Given the description of an element on the screen output the (x, y) to click on. 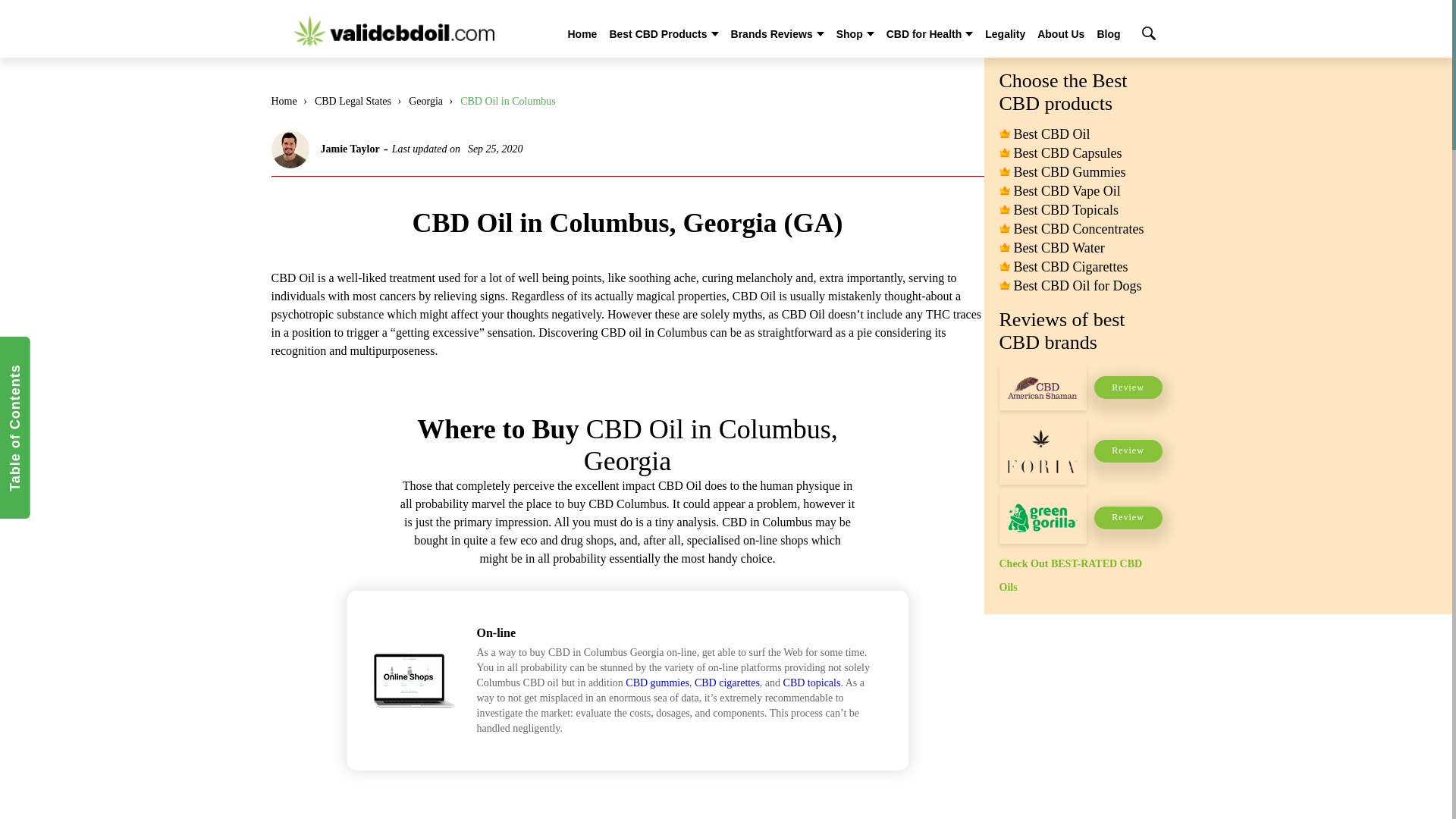
Brands Reviews (771, 33)
Home (581, 33)
CBD oil reviews (394, 30)
Best CBD Products (657, 33)
